Given the description of an element on the screen output the (x, y) to click on. 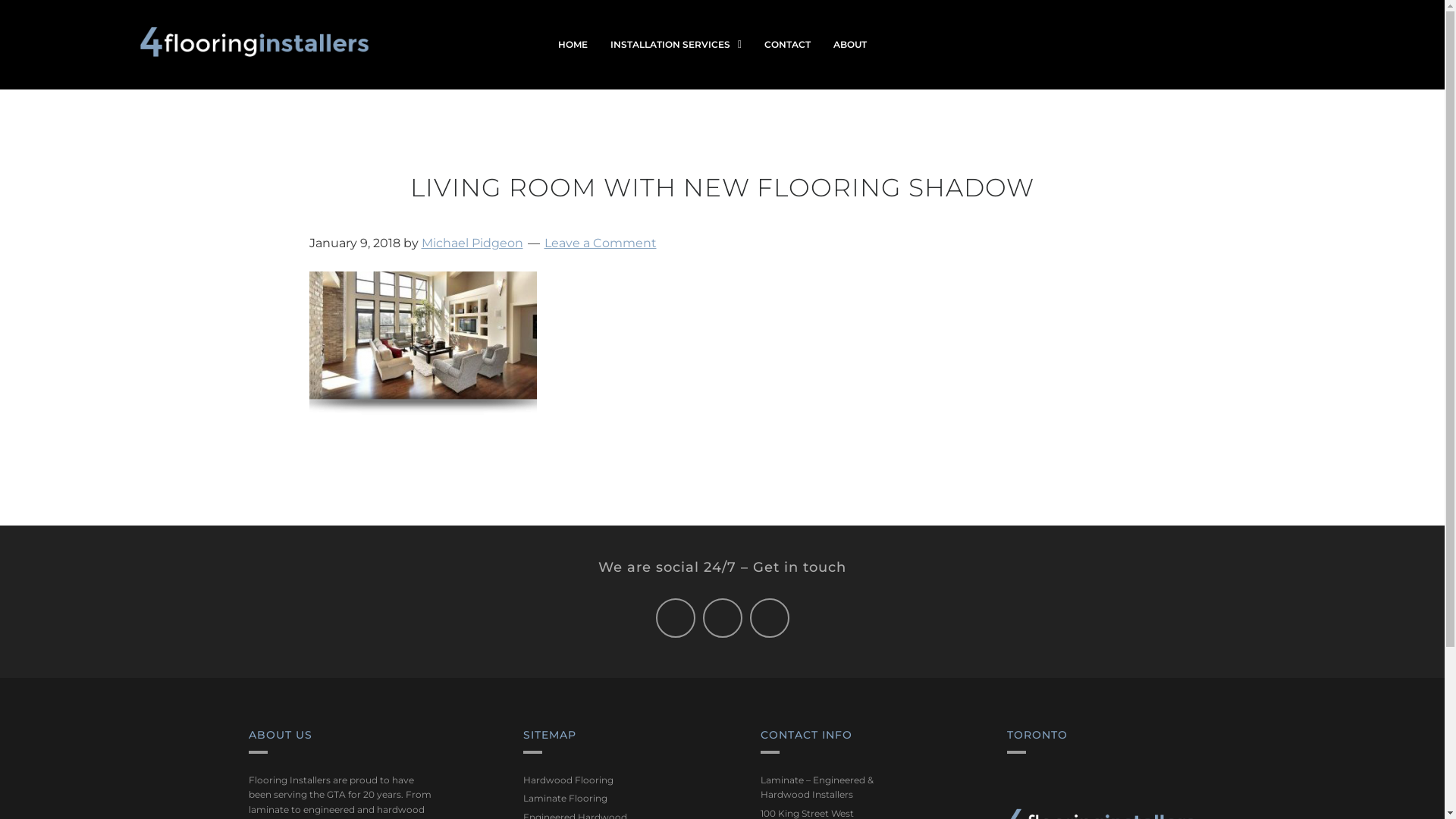
Leave a Comment Element type: text (600, 242)
youtube Element type: hover (1236, 46)
CONTACT Element type: text (787, 44)
Hardwood Flooring Element type: text (568, 779)
INSTALLATION SERVICES Element type: text (675, 44)
ABOUT Element type: text (849, 44)
Michael Pidgeon Element type: text (472, 242)
instagram Element type: hover (1251, 46)
TI Element type: hover (254, 52)
Skip to main content Element type: text (0, 0)
HOME Element type: text (572, 44)
facebook Element type: hover (1221, 46)
Laminate Flooring Element type: text (565, 797)
